Given the description of an element on the screen output the (x, y) to click on. 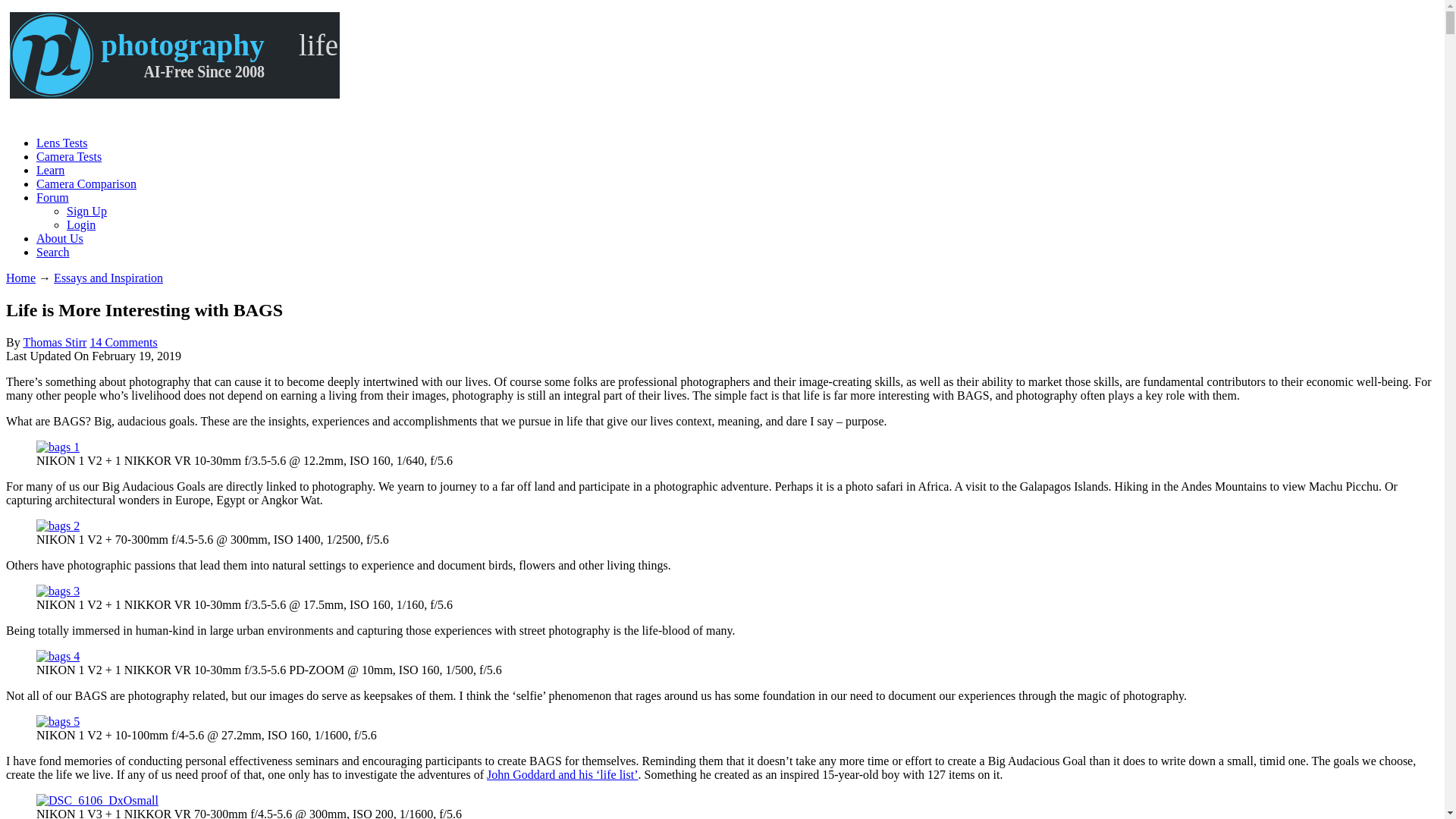
Login (81, 224)
Camera Tests (68, 155)
Forum (52, 196)
About Us (59, 237)
Thomas Stirr (54, 341)
Search (52, 251)
About Us (59, 237)
Sign Up (86, 210)
Search (52, 251)
Photography Life (174, 55)
